Given the description of an element on the screen output the (x, y) to click on. 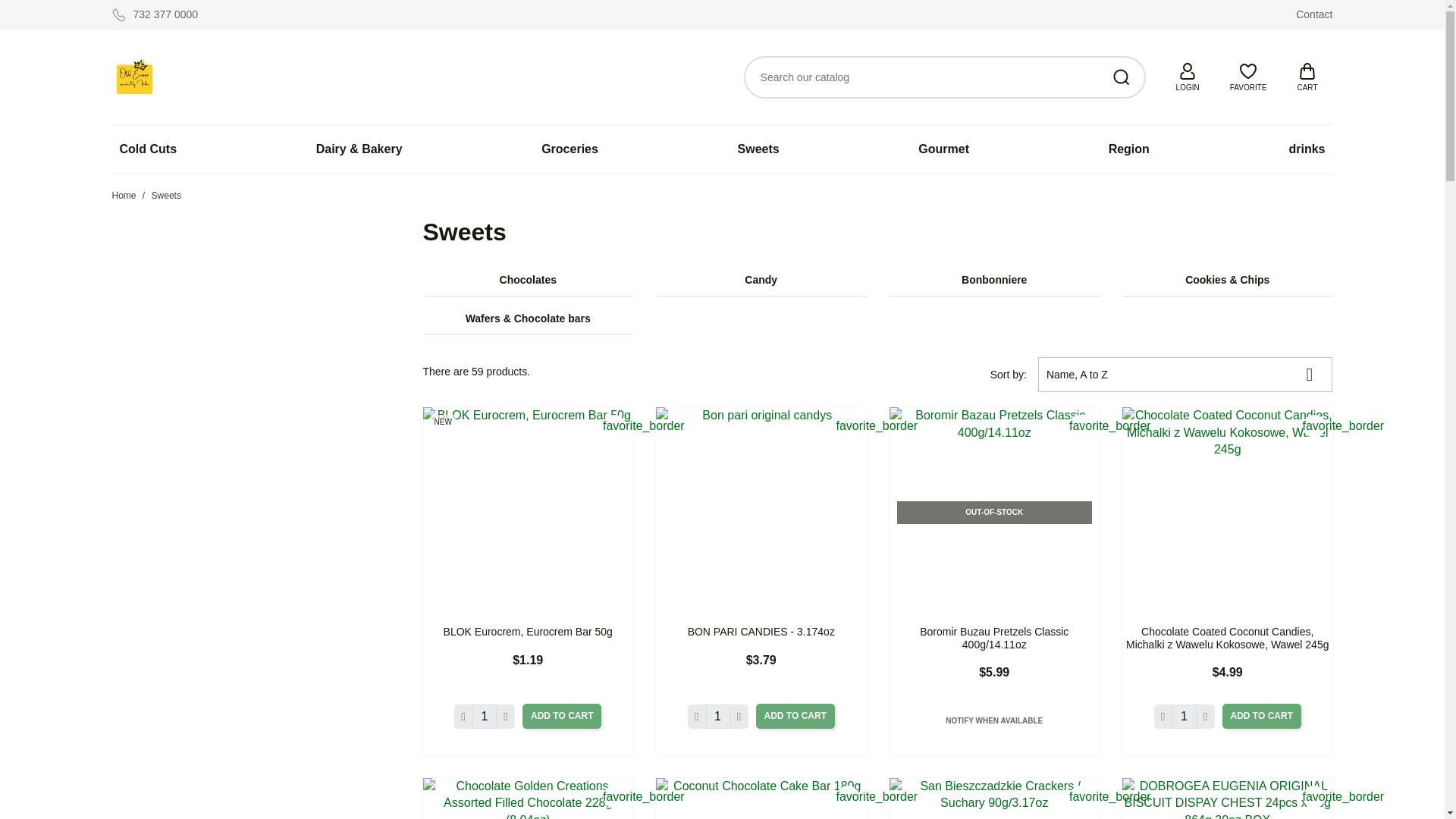
Cold Cuts (148, 149)
Groceries (569, 149)
Candy (761, 280)
732 377 0000 (155, 14)
FAVORITE (1248, 74)
1 (1184, 716)
Contact (1313, 14)
Contact (1313, 14)
Search (1121, 77)
732 377 0000 (155, 14)
Favorite products (1248, 74)
1 (483, 716)
1 (718, 716)
Bonbonniere (993, 280)
Chocolates (528, 280)
